Given the description of an element on the screen output the (x, y) to click on. 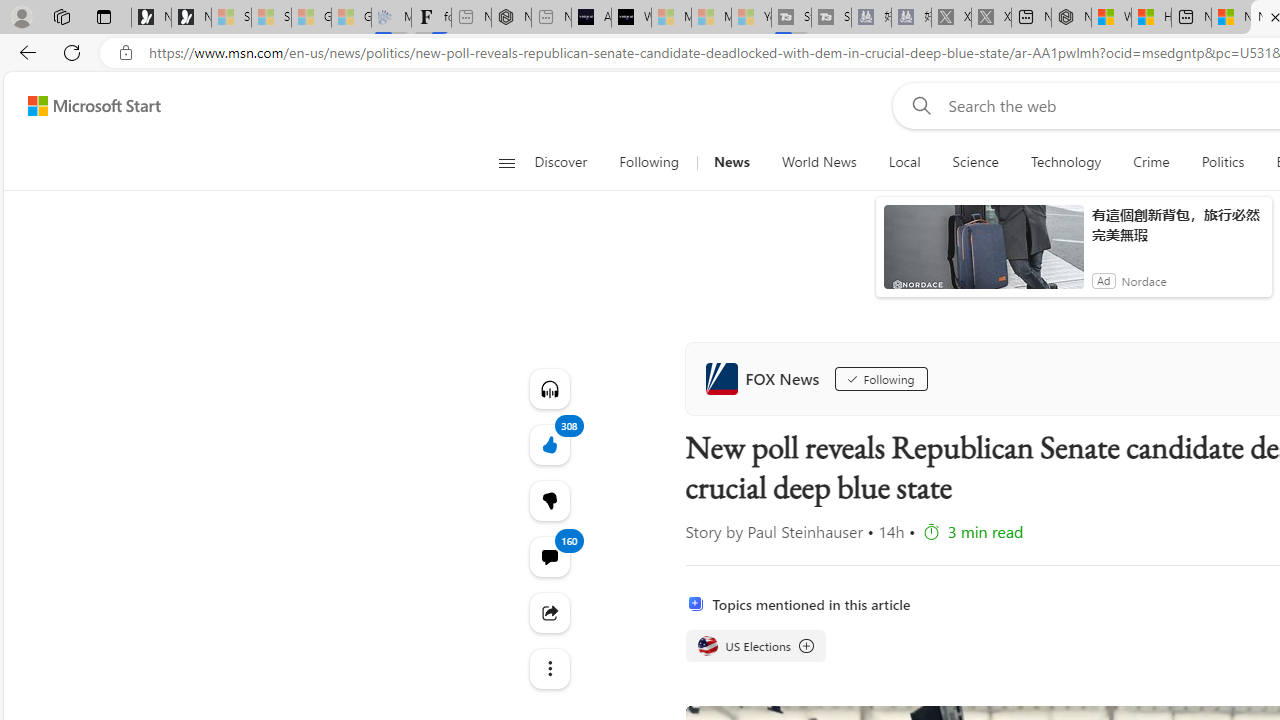
US Elections US Elections US Elections (754, 645)
Web search (917, 105)
Technology (1066, 162)
anim-content (983, 255)
FOX News (766, 378)
News (731, 162)
